Given the description of an element on the screen output the (x, y) to click on. 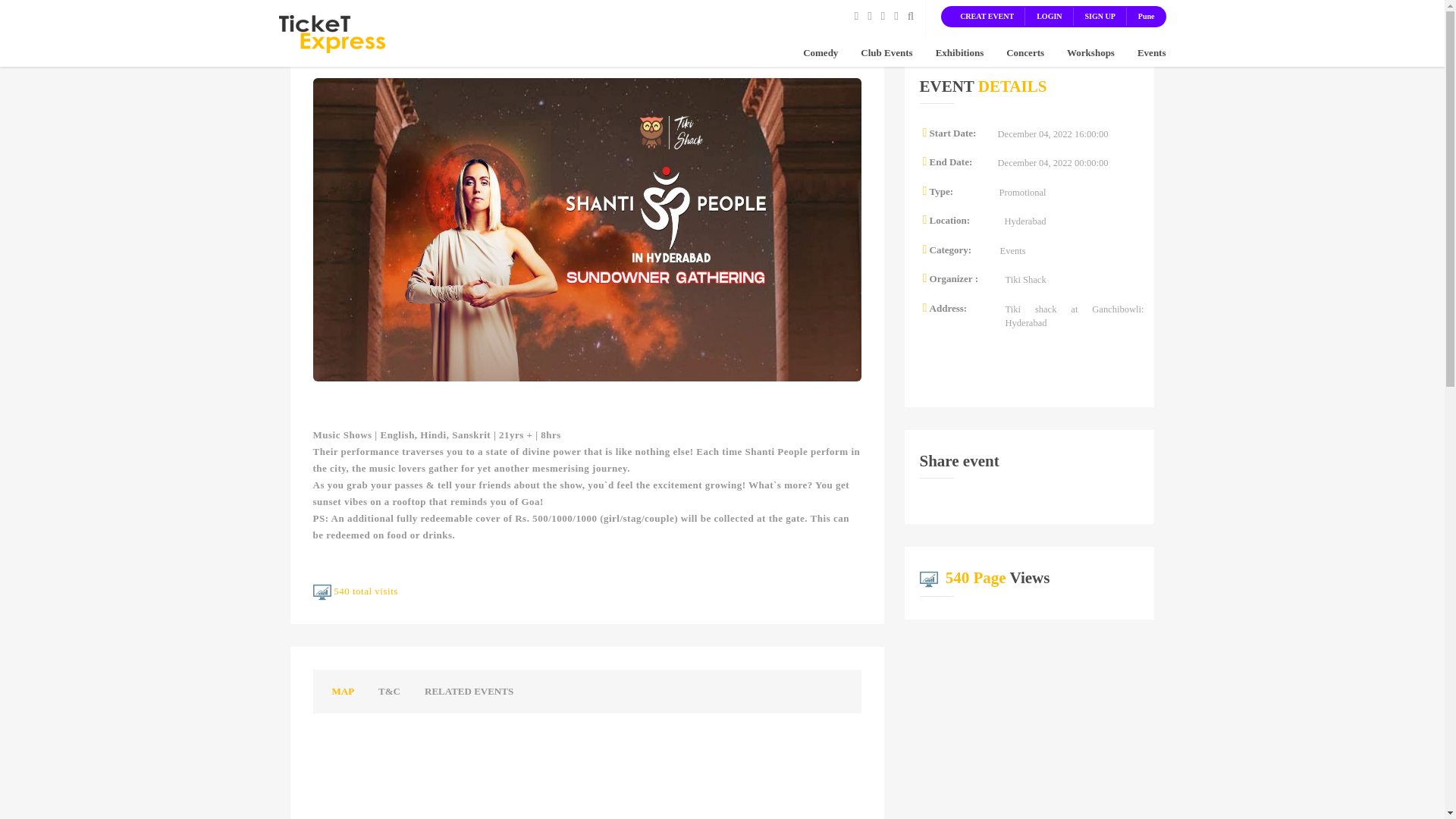
Exhibitions (960, 52)
City (1024, 52)
City (820, 52)
Login (986, 16)
RELATED EVENTS (468, 691)
Concerts (1024, 52)
Home (332, 32)
MAP (342, 691)
Club Events (886, 52)
Comedy (820, 52)
Pune (1146, 16)
City (1091, 52)
Register (1099, 16)
SIGN UP (1099, 16)
City (886, 52)
